Given the description of an element on the screen output the (x, y) to click on. 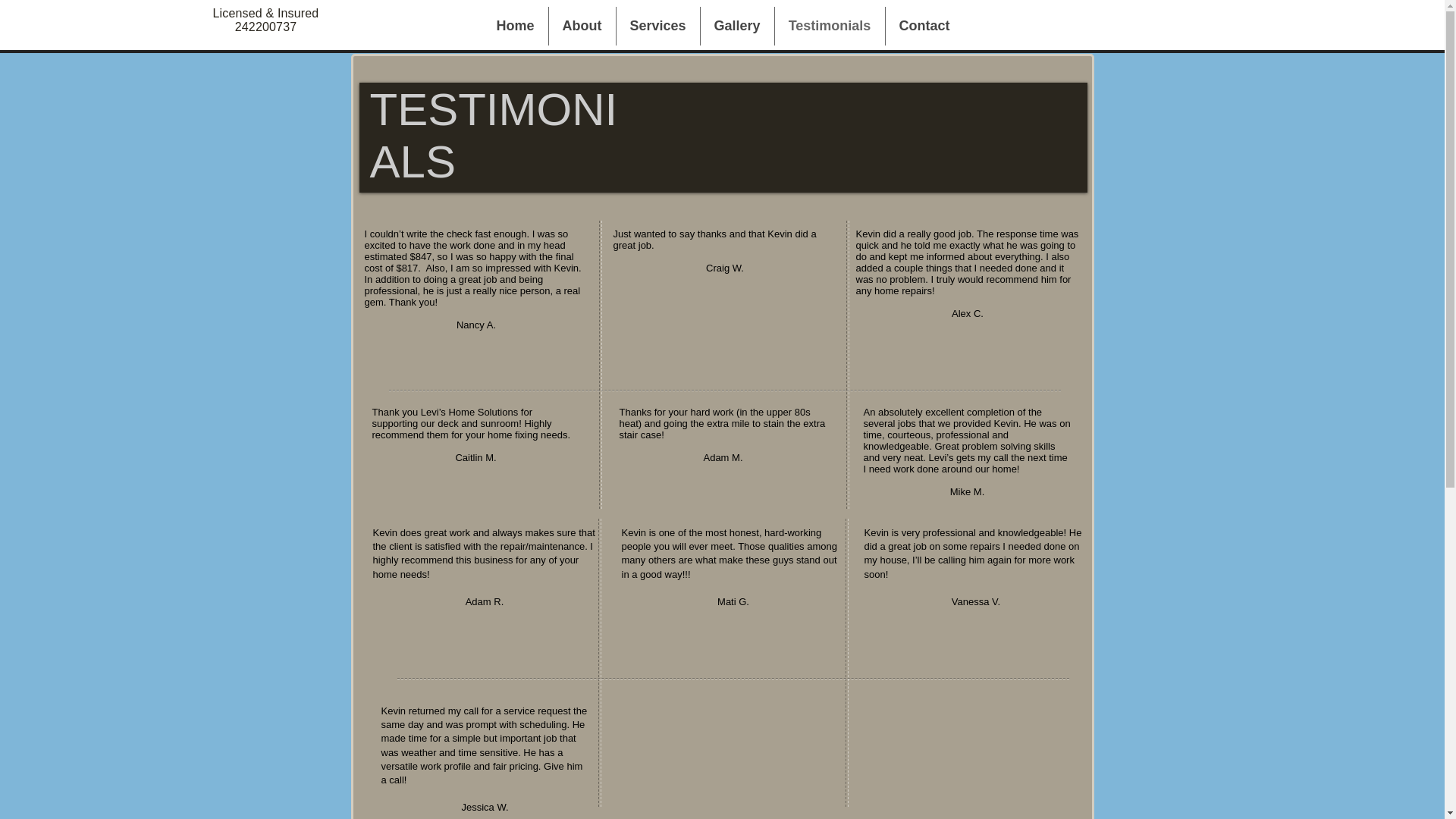
Gallery (737, 25)
Contact (924, 25)
About (581, 25)
Home (514, 25)
Services (656, 25)
Testimonials (829, 25)
